Given the description of an element on the screen output the (x, y) to click on. 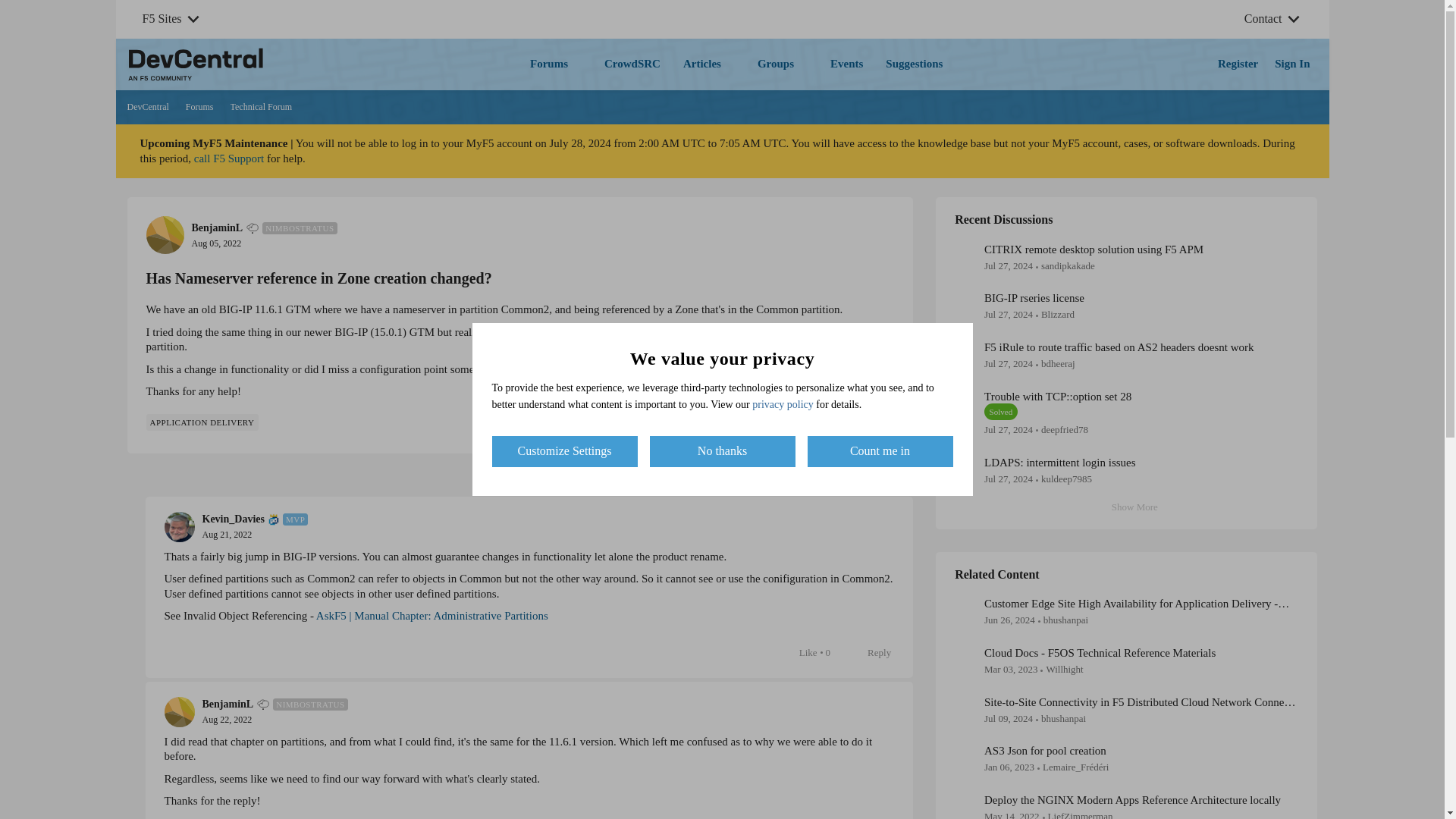
August 21, 2022 at 9:48 AM (882, 474)
Forums (226, 534)
Show More (555, 63)
Articles (1126, 507)
July 26, 2024 at 4:44 PM (708, 63)
July 26, 2024 at 10:50 PM (1008, 478)
DevCentral (1008, 429)
Events (148, 107)
August 4, 2022 at 7:36 PM (846, 63)
CrowdSRC (215, 243)
July 9, 2024 at 12:00 PM (632, 63)
Reply (1008, 717)
LDAPS: intermittent login issues (870, 420)
CITRIX  remote desktop solution using F5 APM (1059, 462)
